Given the description of an element on the screen output the (x, y) to click on. 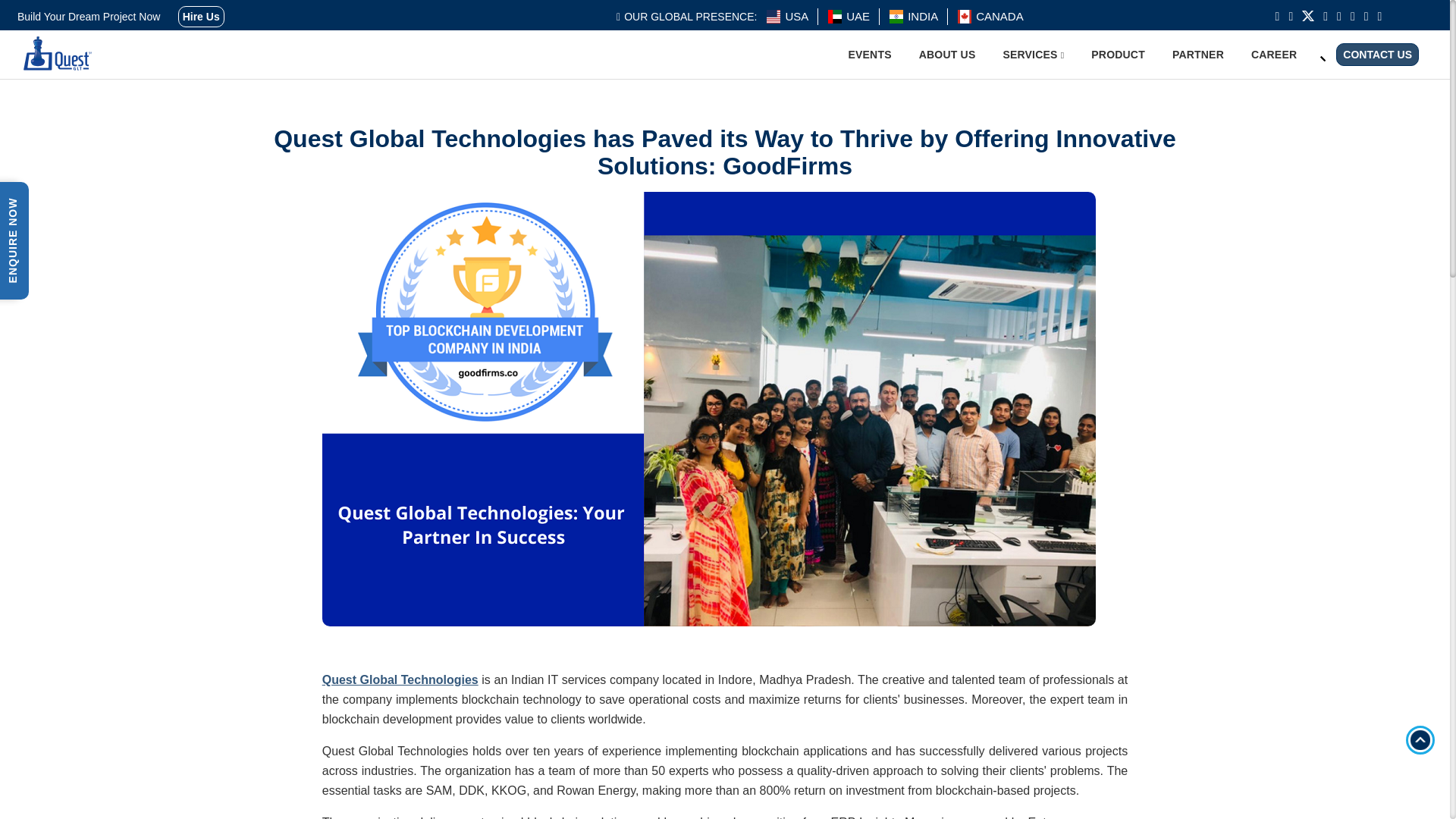
Hire Us (200, 16)
Scroll (1420, 739)
facebook (1290, 15)
whatsapp (1338, 15)
discord (1379, 15)
Scroll to Top (1420, 739)
ABOUT US (946, 54)
telegram (1353, 15)
EVENTS (868, 54)
CANADA (999, 16)
INDIA (922, 16)
youtube (1366, 15)
SERVICES (1032, 54)
linkedin (1325, 15)
instagram (1277, 15)
